Given the description of an element on the screen output the (x, y) to click on. 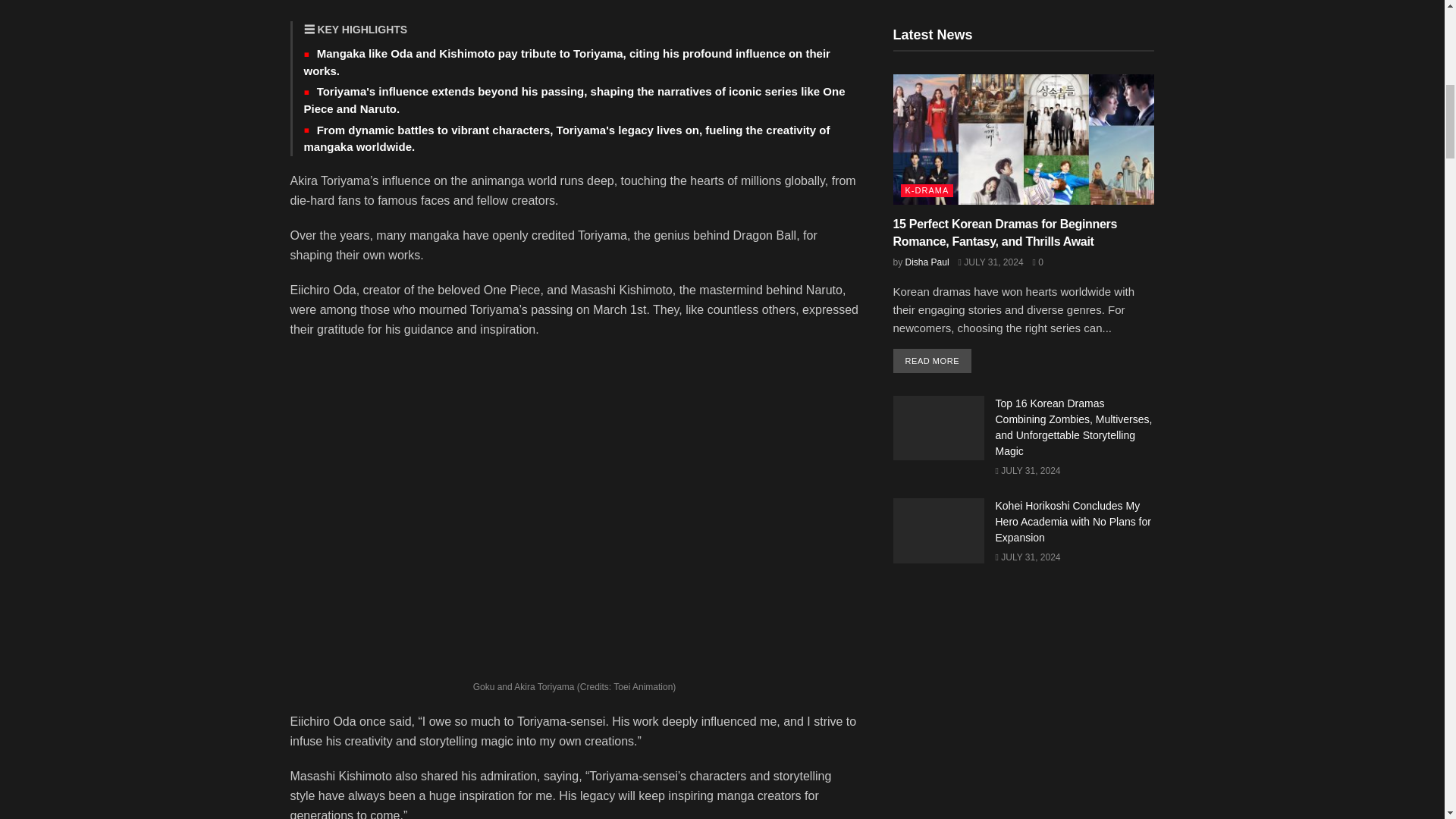
K-DRAMA (927, 190)
